Given the description of an element on the screen output the (x, y) to click on. 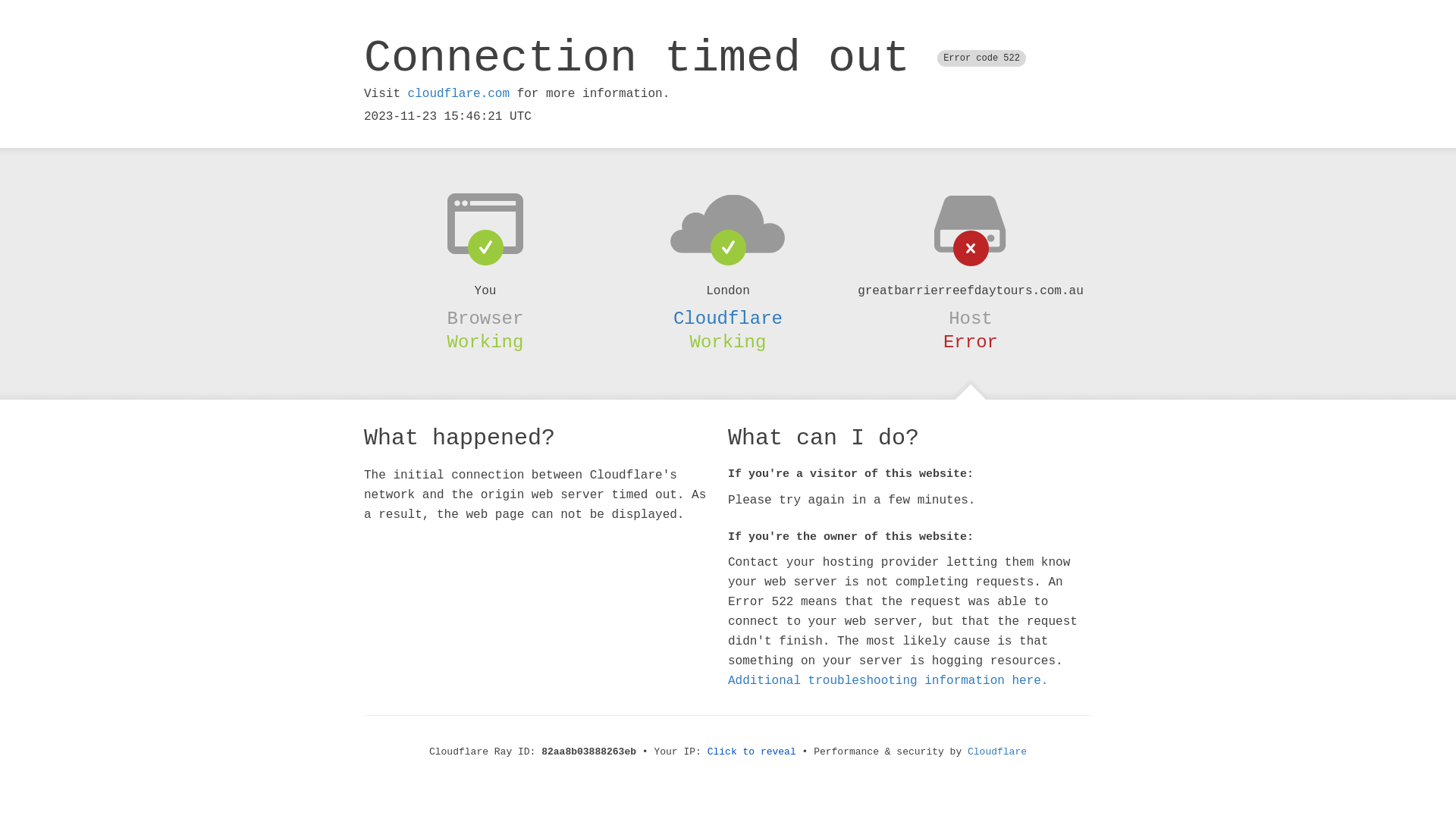
Cloudflare Element type: text (727, 318)
Cloudflare Element type: text (996, 751)
cloudflare.com Element type: text (458, 93)
Additional troubleshooting information here. Element type: text (888, 680)
Click to reveal Element type: text (751, 751)
